Given the description of an element on the screen output the (x, y) to click on. 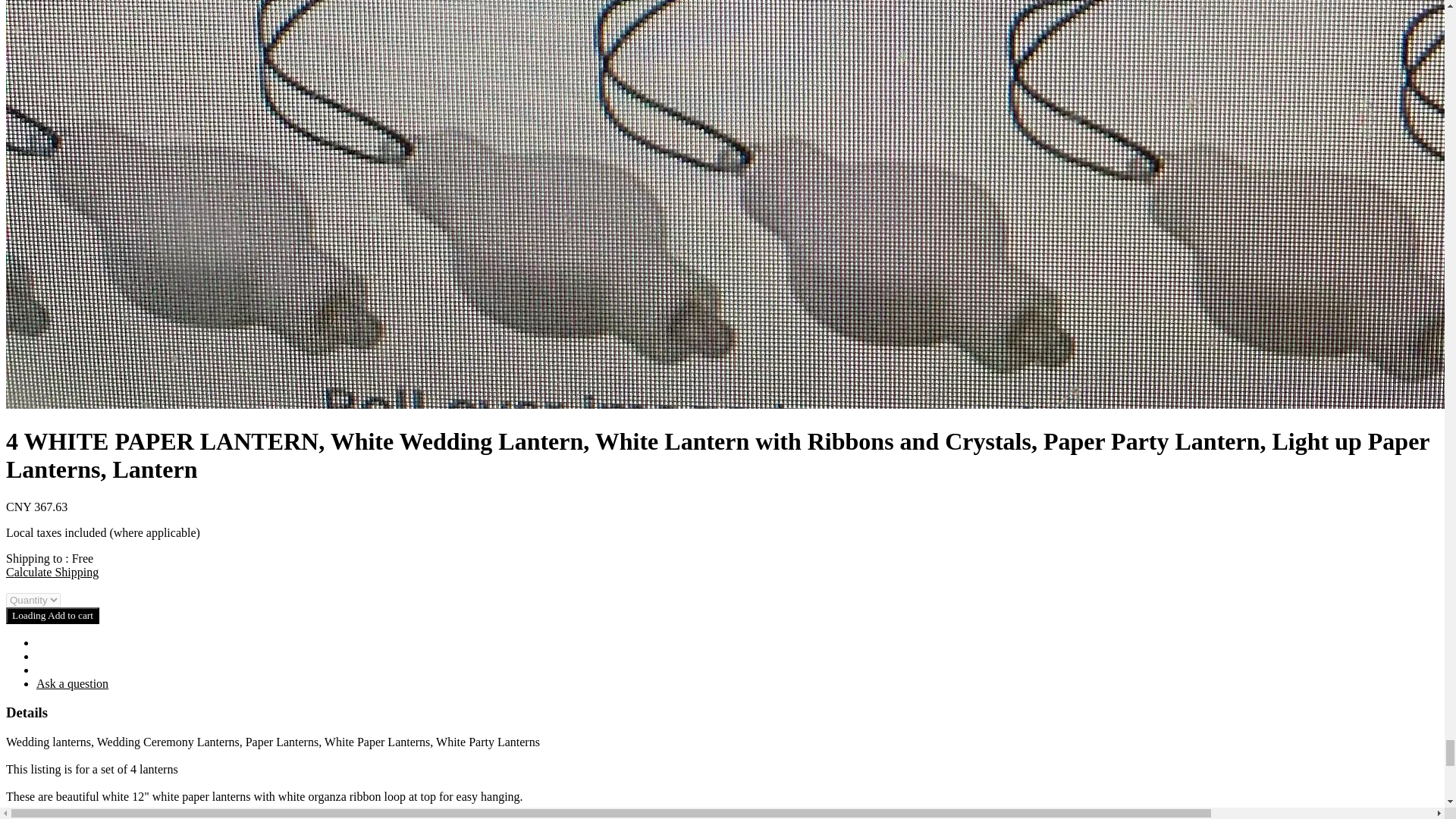
Calculate Shipping (52, 571)
Ask a question (71, 682)
Loading Add to cart (52, 614)
